Given the description of an element on the screen output the (x, y) to click on. 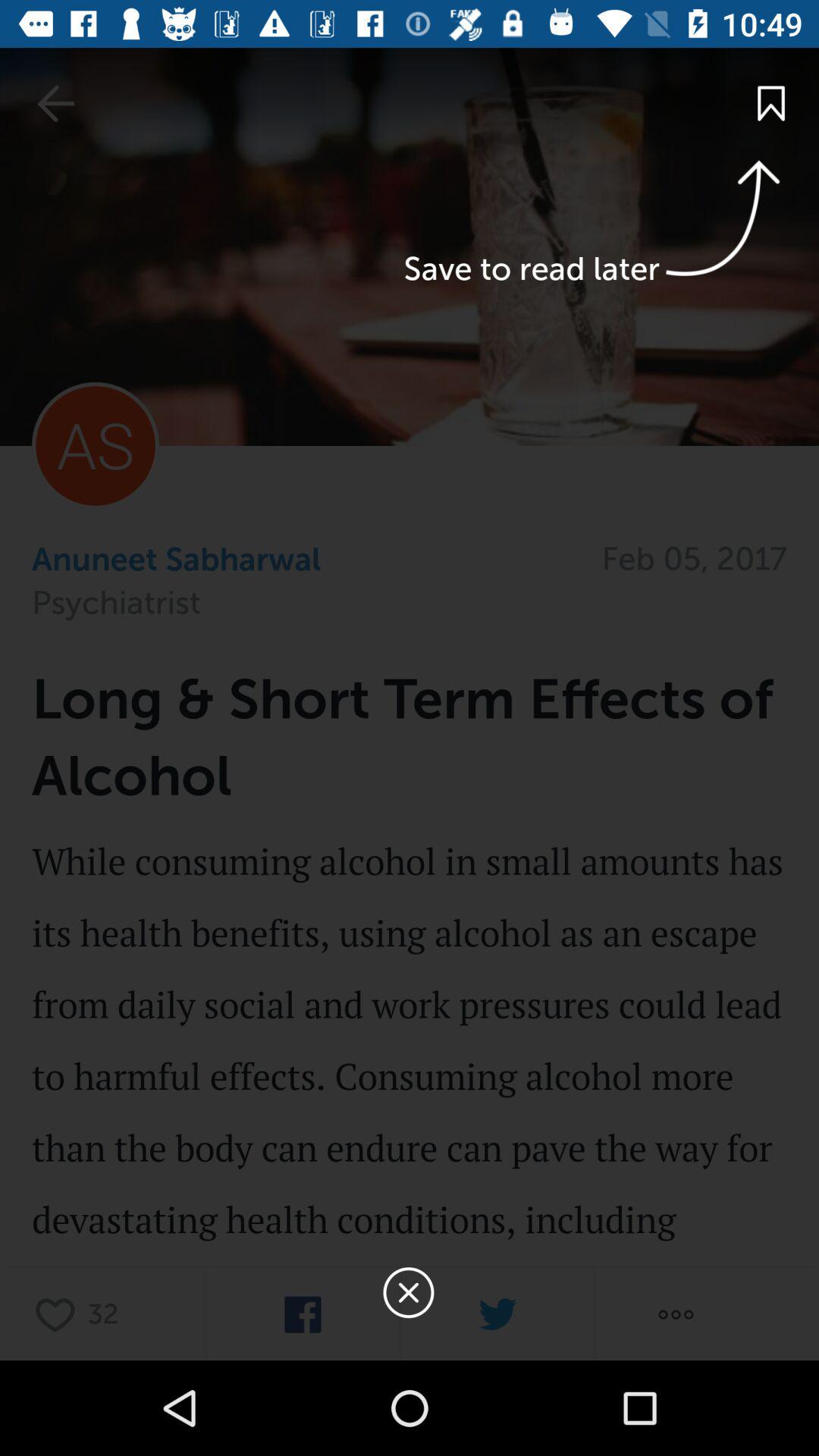
share on twitter (497, 1314)
